Given the description of an element on the screen output the (x, y) to click on. 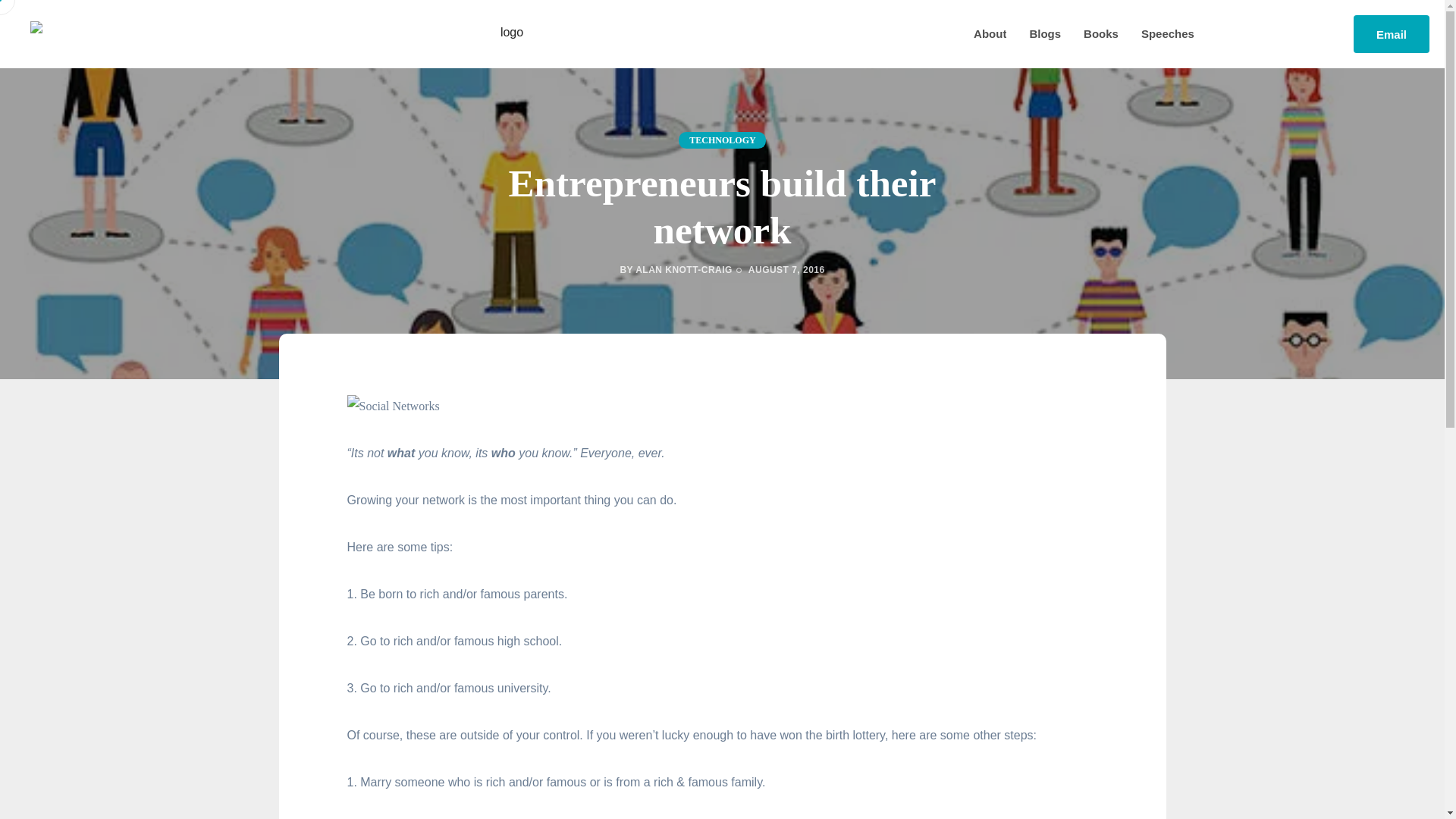
Search (22, 18)
Blogs (1045, 34)
About (990, 34)
Speeches (1167, 34)
Books (1100, 34)
TECHNOLOGY (721, 140)
Email (1391, 34)
